Given the description of an element on the screen output the (x, y) to click on. 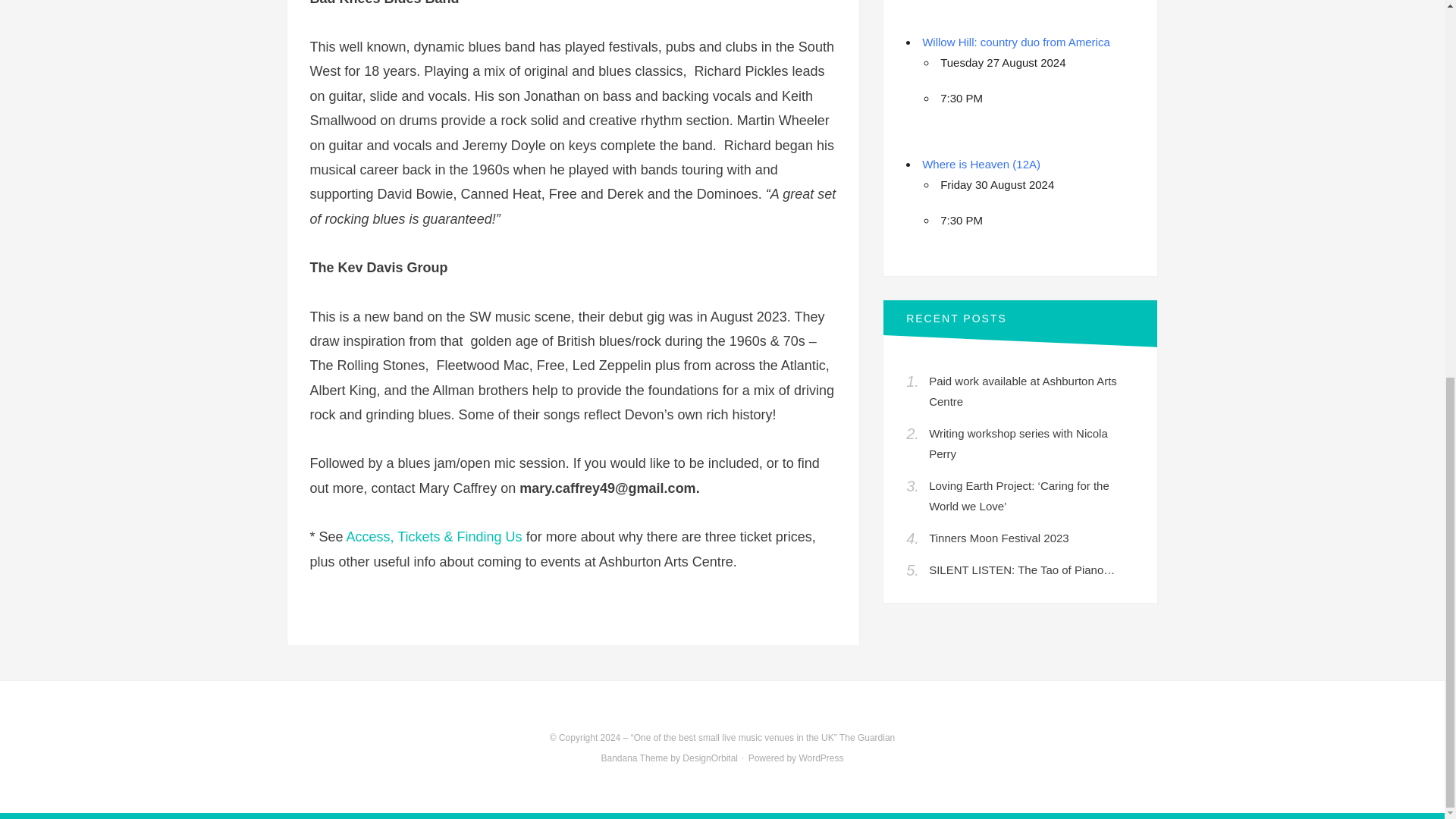
Tinners Moon Festival 2023 (998, 537)
Willow Hill: country duo from America (1015, 42)
DesignOrbital (710, 757)
WordPress (820, 757)
WordPress (820, 757)
Paid work available at Ashburton Arts Centre (1022, 390)
Writing workshop series with Nicola Perry (1018, 443)
DesignOrbital (710, 757)
